Given the description of an element on the screen output the (x, y) to click on. 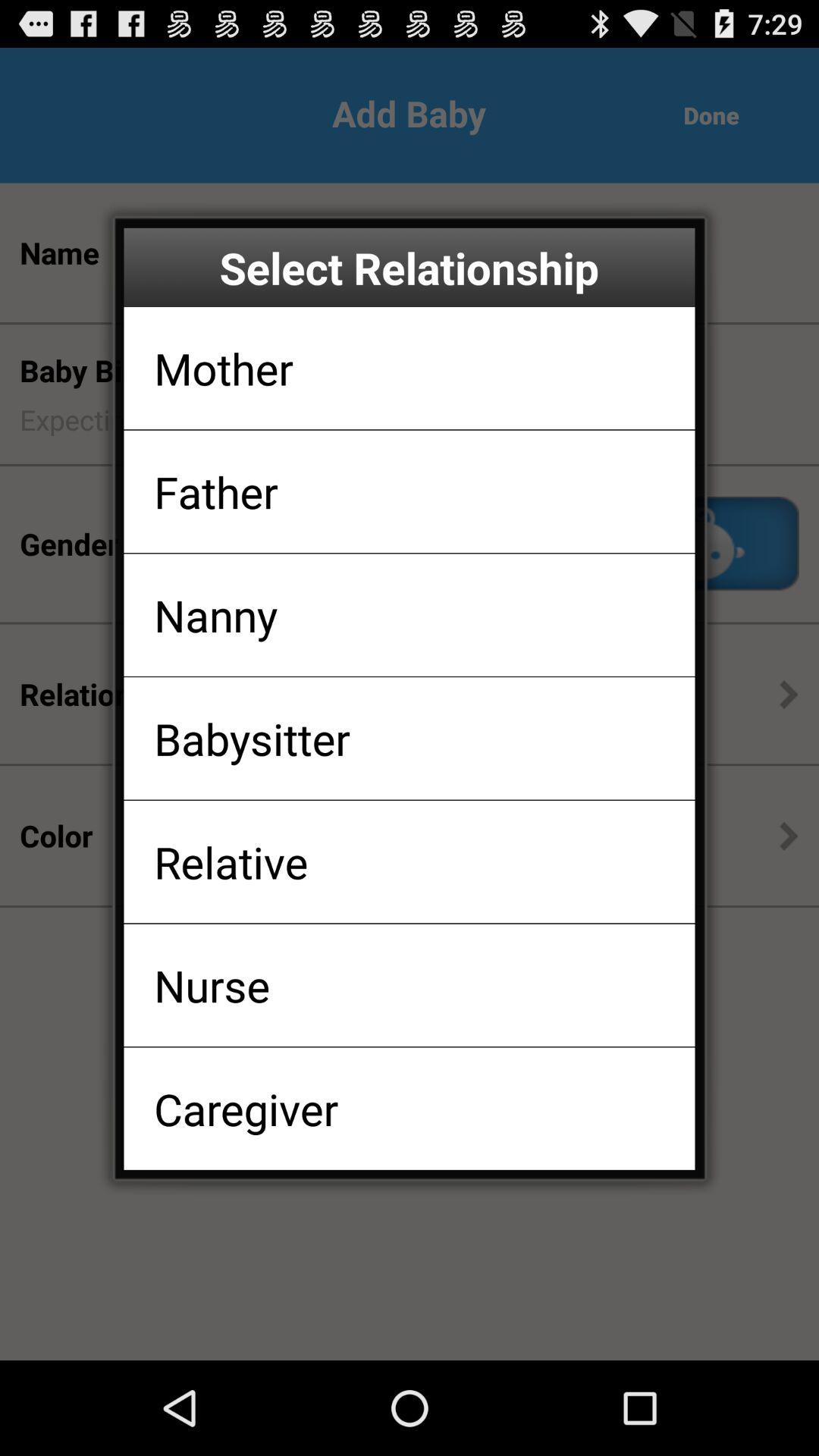
press icon below the nanny item (252, 738)
